Given the description of an element on the screen output the (x, y) to click on. 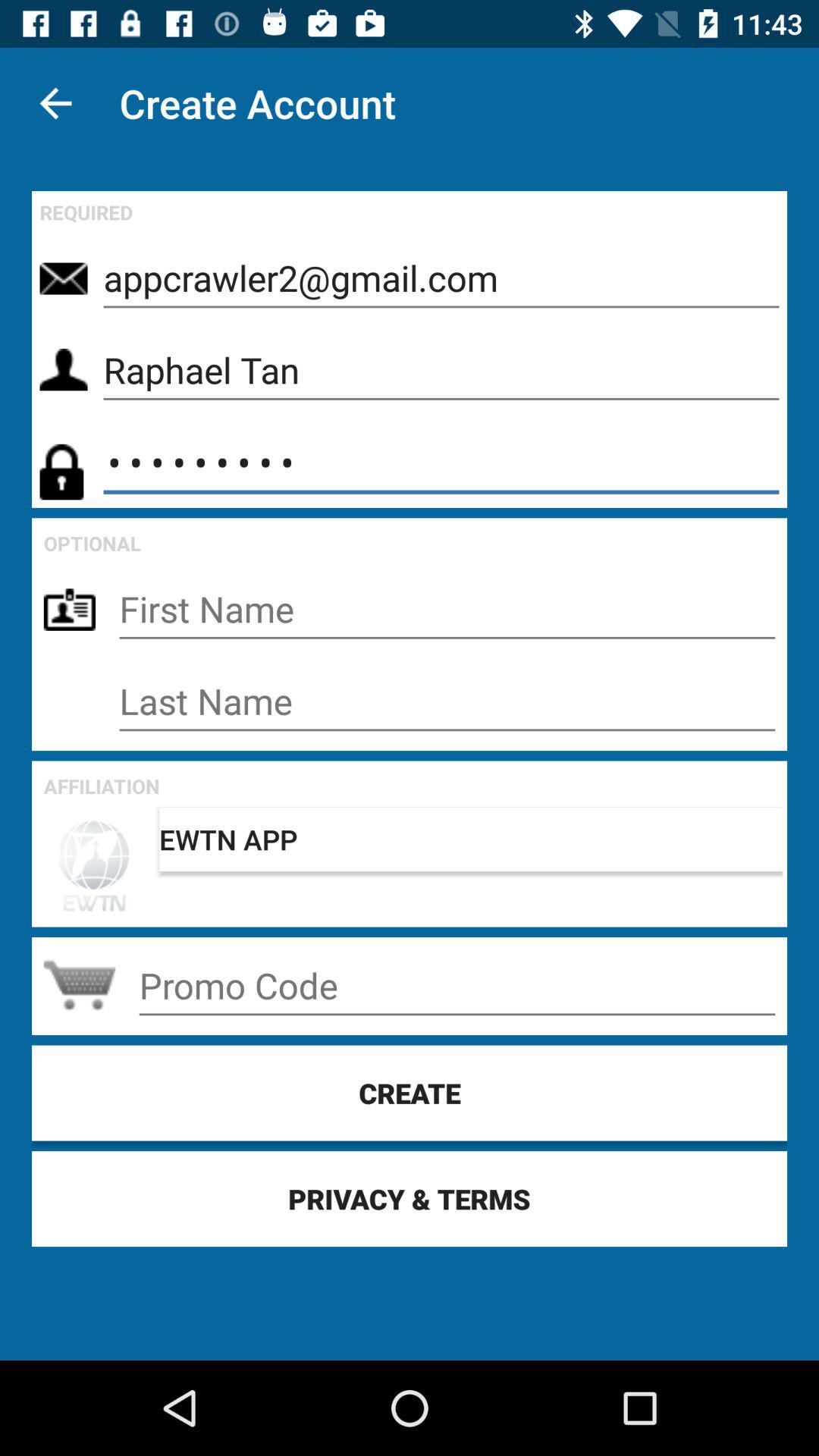
tap the appcrawler2@gmail.com (441, 278)
